Given the description of an element on the screen output the (x, y) to click on. 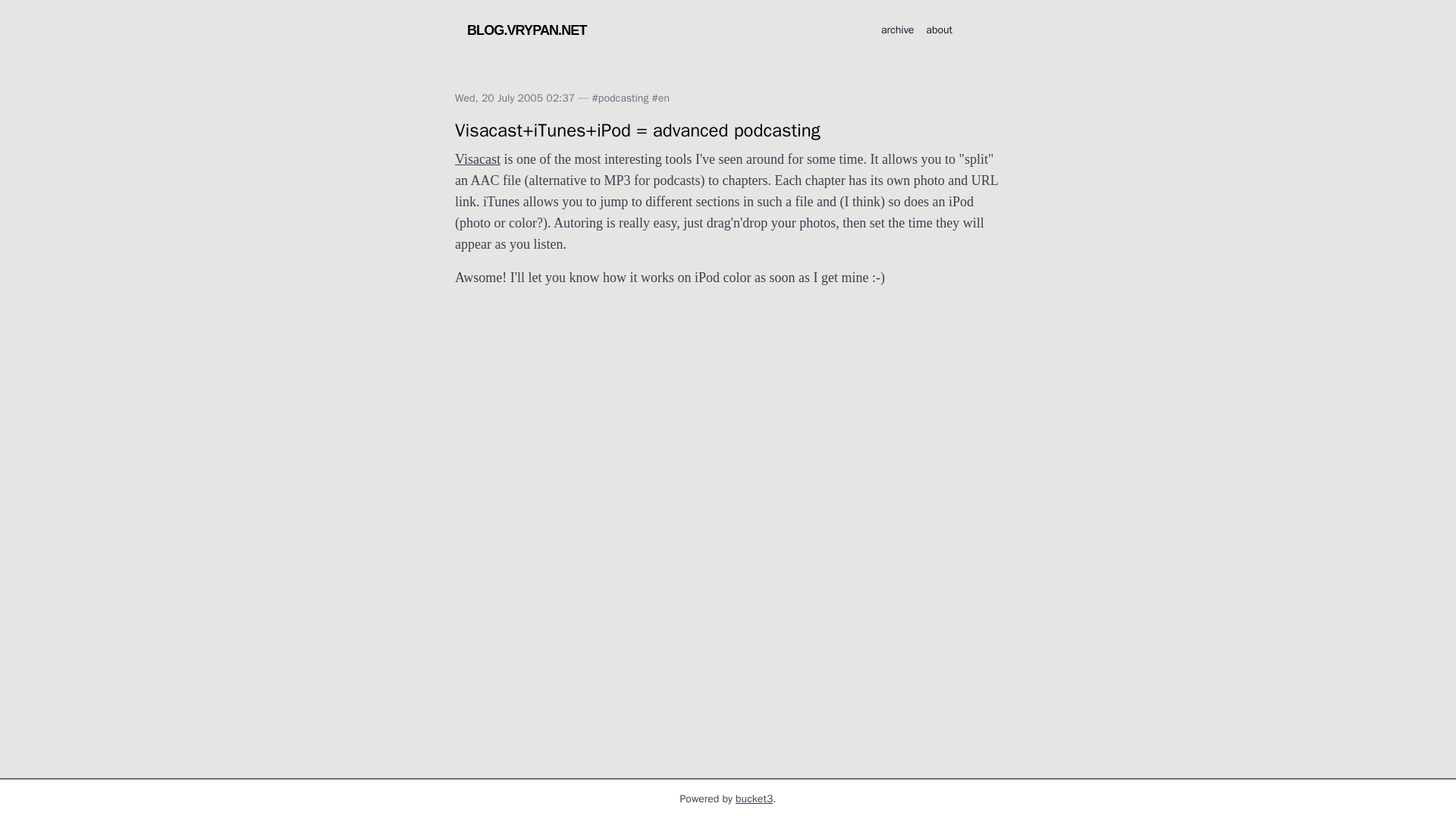
about (939, 30)
archive (897, 30)
Visacast (477, 159)
bucket3 (754, 798)
Wed, 20 July 2005 02:37 (514, 97)
BLOG.VRYPAN.NET (526, 29)
